Given the description of an element on the screen output the (x, y) to click on. 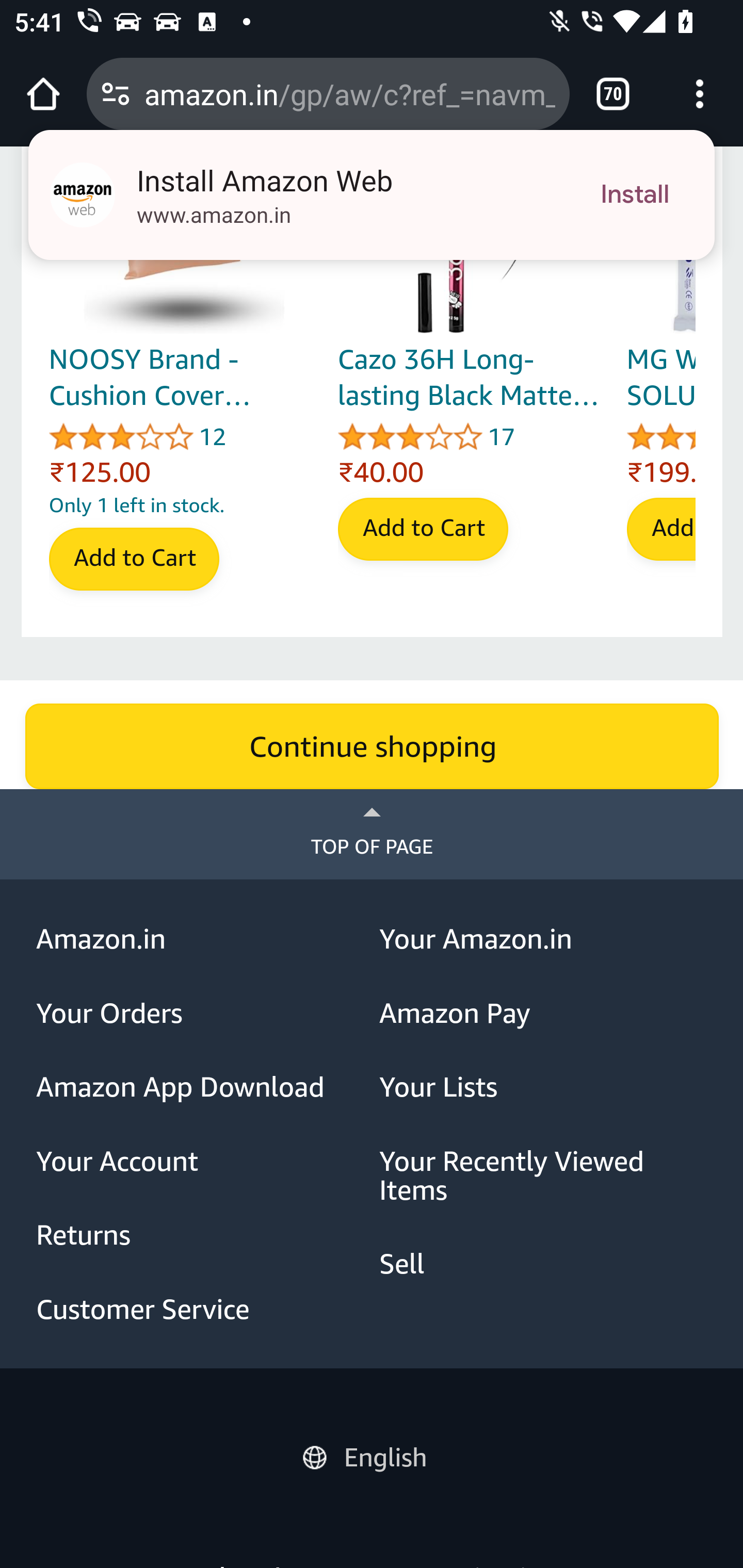
Open the home page (43, 93)
Connection is secure (115, 93)
Switch or close tabs (612, 93)
Customize and control Google Chrome (699, 93)
amazon.in/gp/aw/c?ref_=navm_hdr_cart (349, 92)
Install (634, 195)
Add to Cart (422, 530)
Add to Cart (133, 560)
Continue shopping (371, 747)
Top of page TOP OF PAGE (371, 834)
Amazon.in (201, 939)
Your Amazon.in (543, 939)
Your Orders (201, 1013)
Amazon Pay (543, 1013)
Amazon App Download (201, 1088)
Your Lists (543, 1088)
Your Account (201, 1161)
Your Recently Viewed Items (543, 1175)
Returns (201, 1235)
Sell (543, 1265)
Customer Service (201, 1308)
Choose a language for shopping. English (371, 1453)
